Given the description of an element on the screen output the (x, y) to click on. 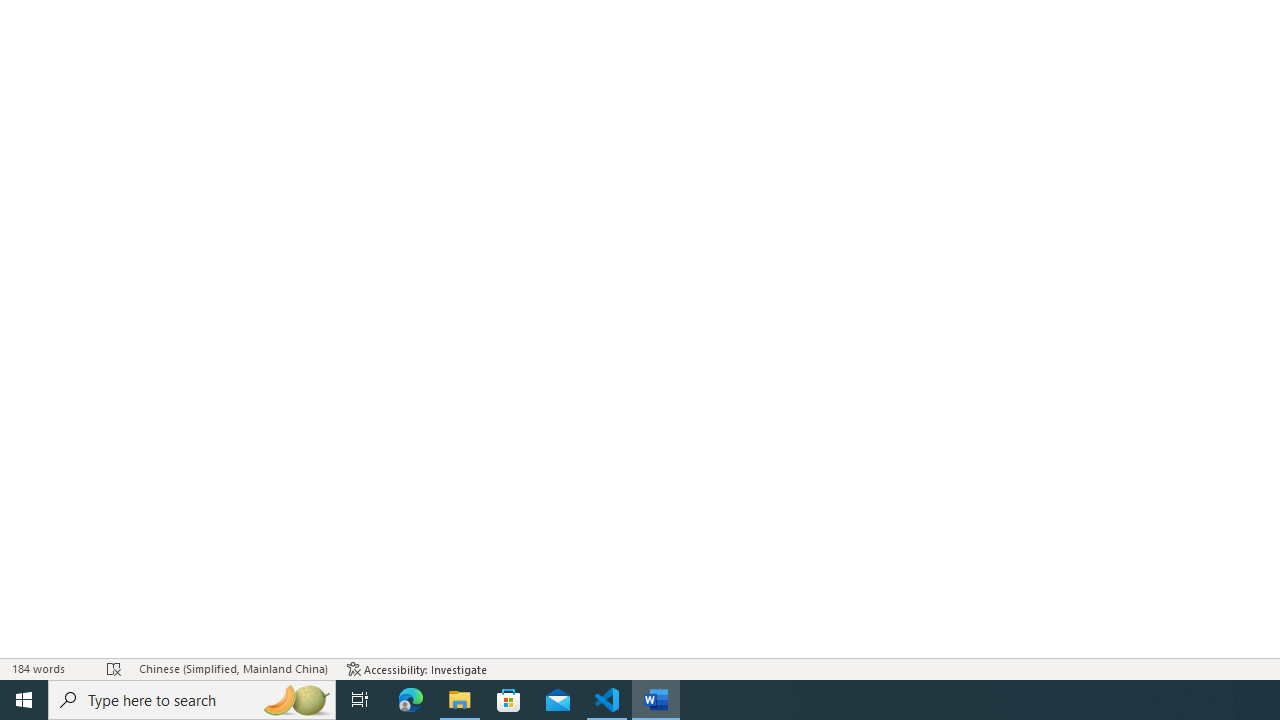
Spelling and Grammar Check Errors (114, 668)
Language Chinese (Simplified, Mainland China) (232, 668)
Accessibility Checker Accessibility: Investigate (417, 668)
Word Count 184 words (49, 668)
